Given the description of an element on the screen output the (x, y) to click on. 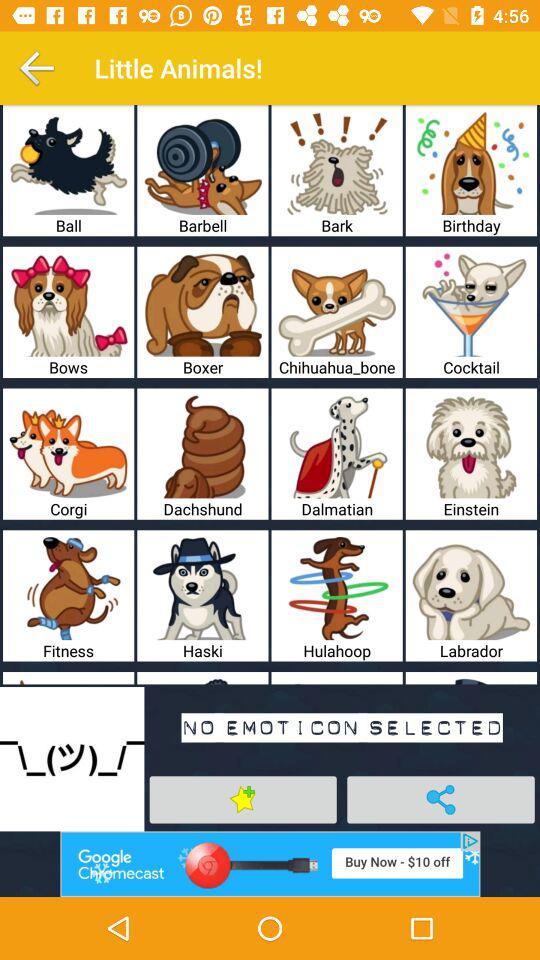
go back (36, 68)
